Given the description of an element on the screen output the (x, y) to click on. 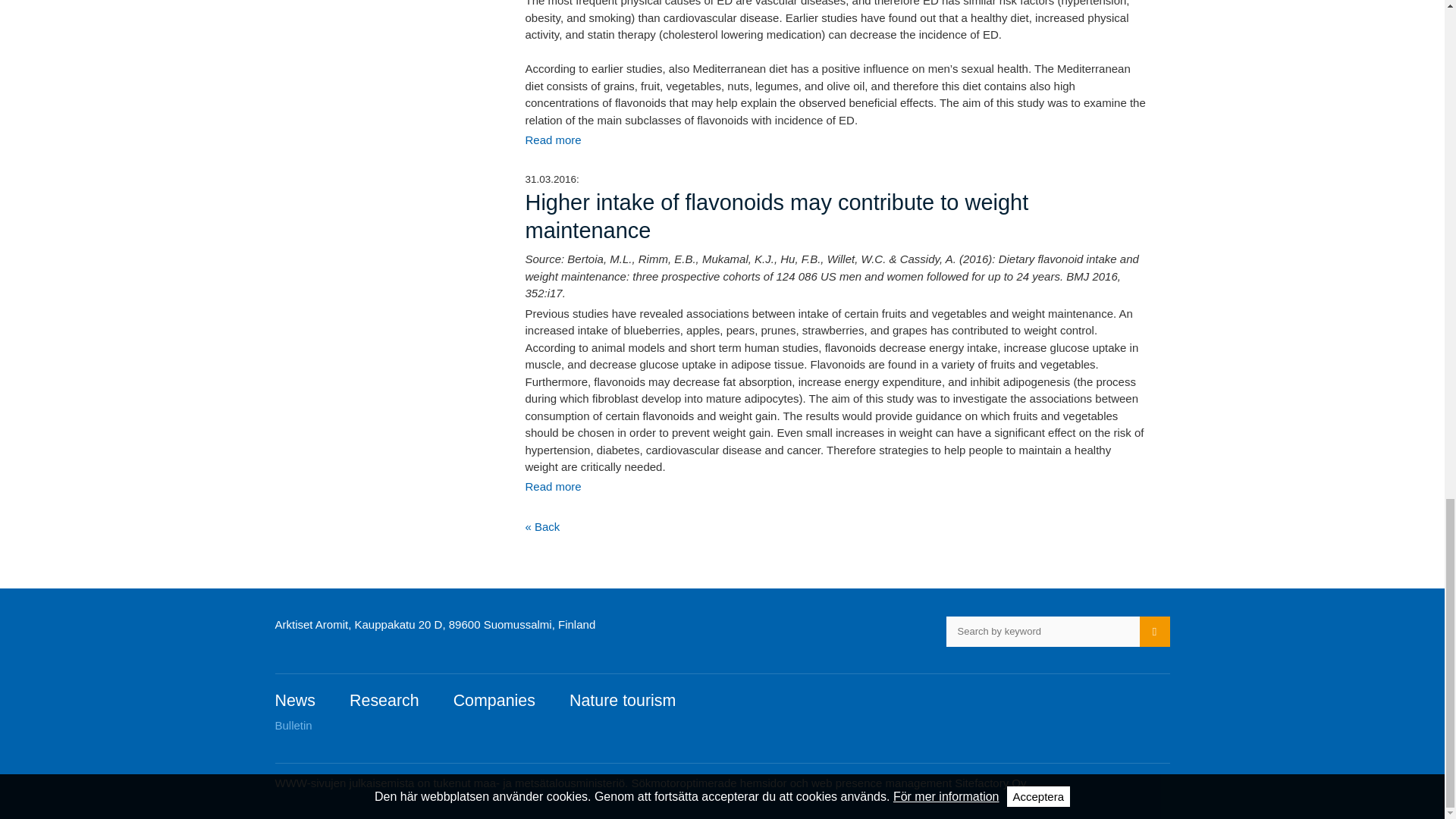
Men should eat berries for erectile dysfunction (552, 139)
Sitefactory (828, 782)
Search by keyword (1043, 631)
